Given the description of an element on the screen output the (x, y) to click on. 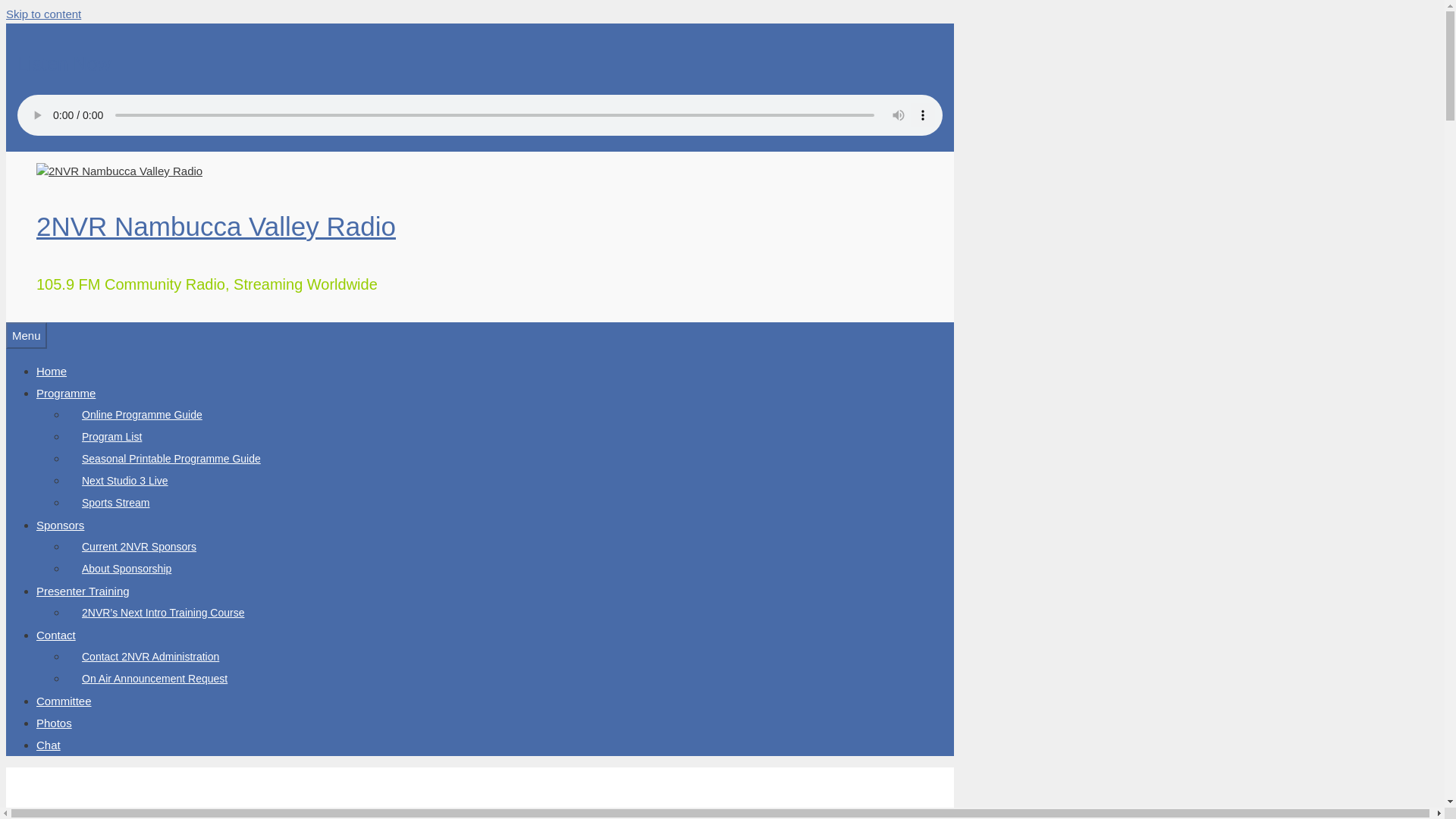
Sponsors (60, 524)
Menu (25, 335)
Next Studio 3 Live (124, 481)
Program List (111, 436)
Current 2NVR Sponsors (138, 546)
2NVR Nambucca Valley Radio (216, 225)
About Sponsorship (126, 568)
Programme (66, 392)
Contact (55, 634)
Home (51, 370)
Online Programme Guide (141, 414)
Photos (53, 722)
Skip to content (43, 13)
Seasonal Printable Programme Guide (171, 458)
Chat (48, 744)
